Given the description of an element on the screen output the (x, y) to click on. 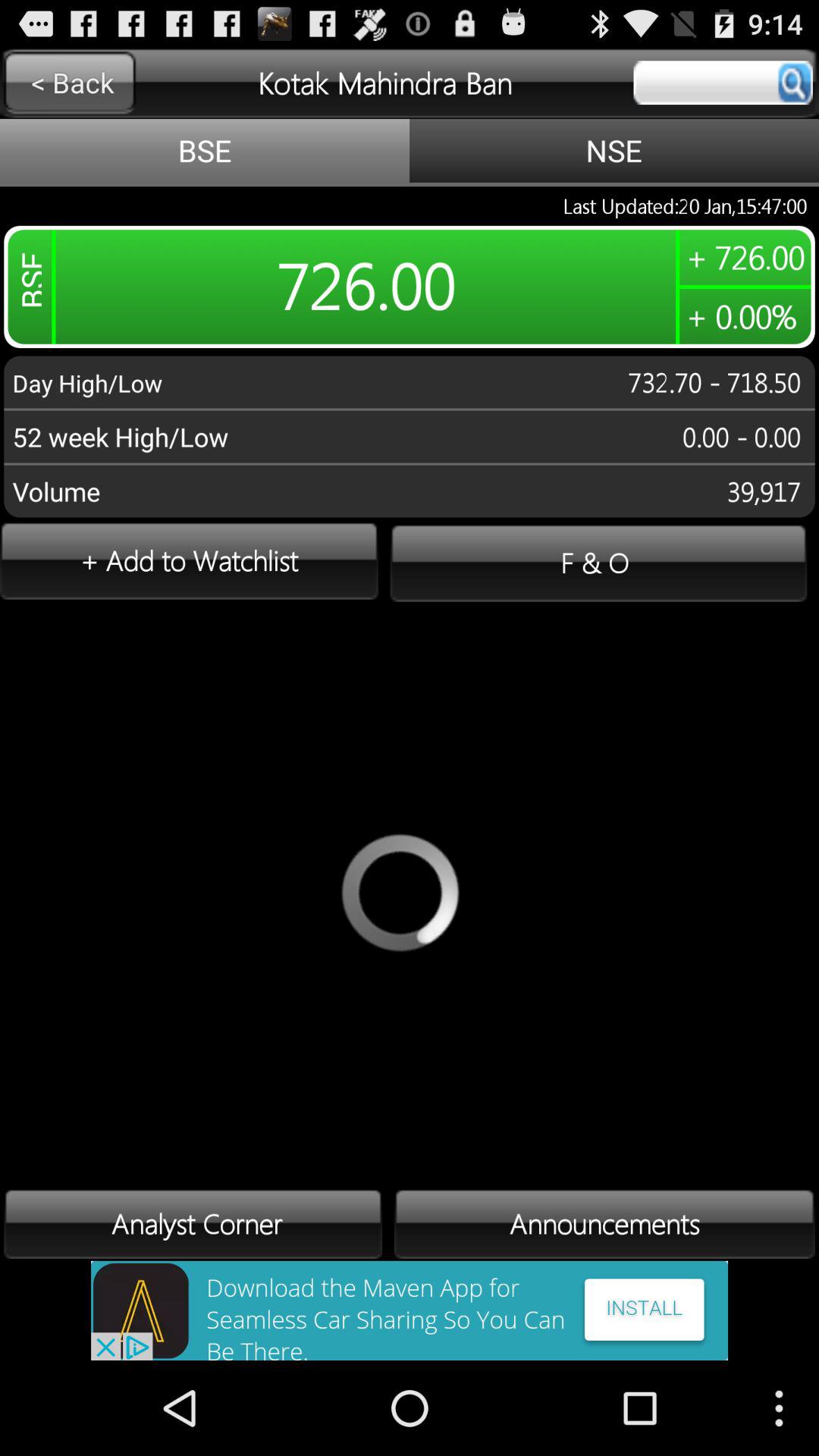
search (722, 82)
